Given the description of an element on the screen output the (x, y) to click on. 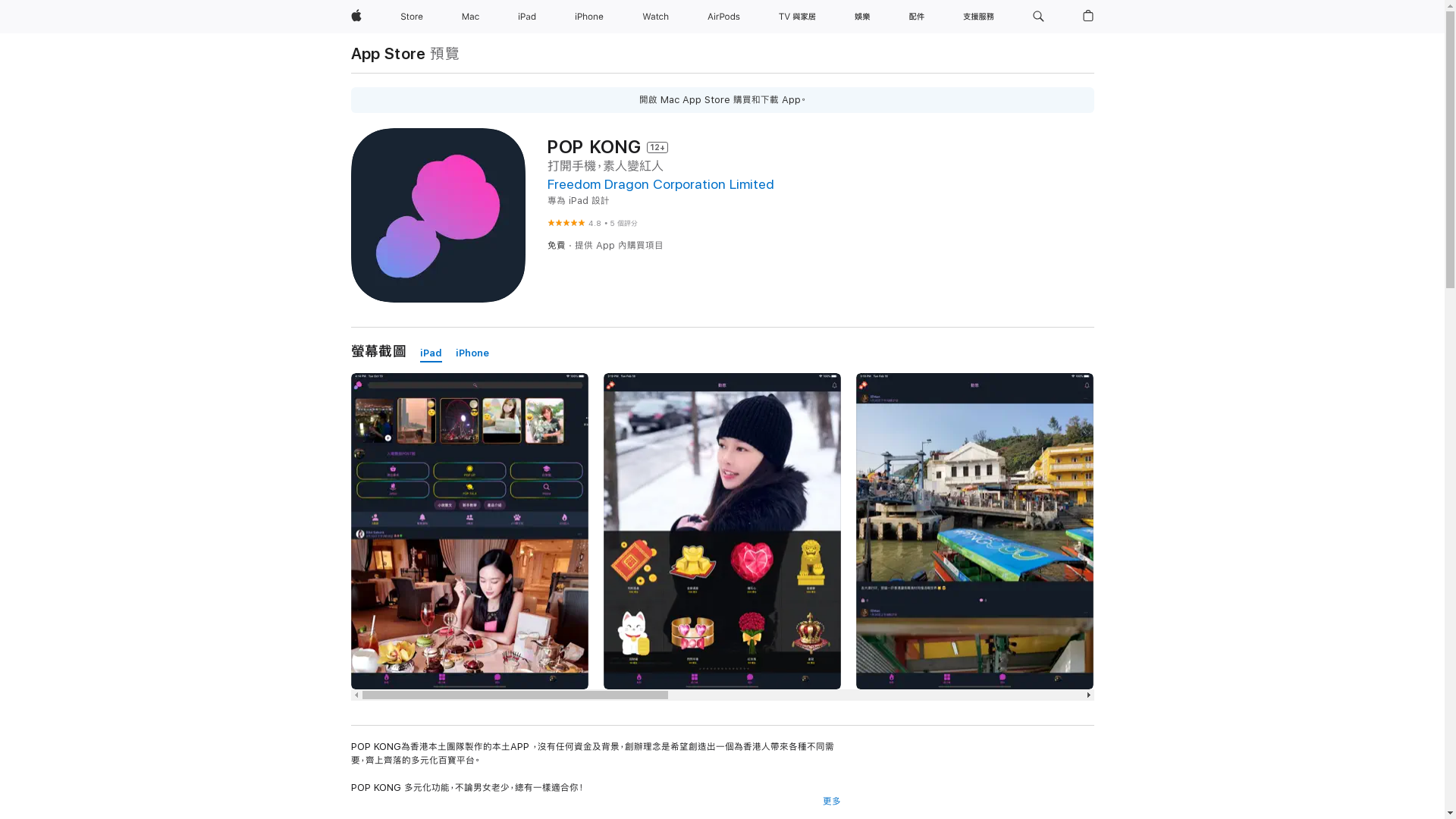
iPhone Element type: text (588, 16)
iPad Element type: text (431, 353)
iPhone Element type: text (472, 353)
Store Element type: text (411, 16)
AirPods Element type: text (723, 16)
Apple Element type: text (355, 16)
Freedom Dragon Corporation Limited Element type: text (660, 184)
App Store Element type: text (387, 53)
Mac Element type: text (470, 16)
Watch Element type: text (655, 16)
iPad Element type: text (526, 16)
